Given the description of an element on the screen output the (x, y) to click on. 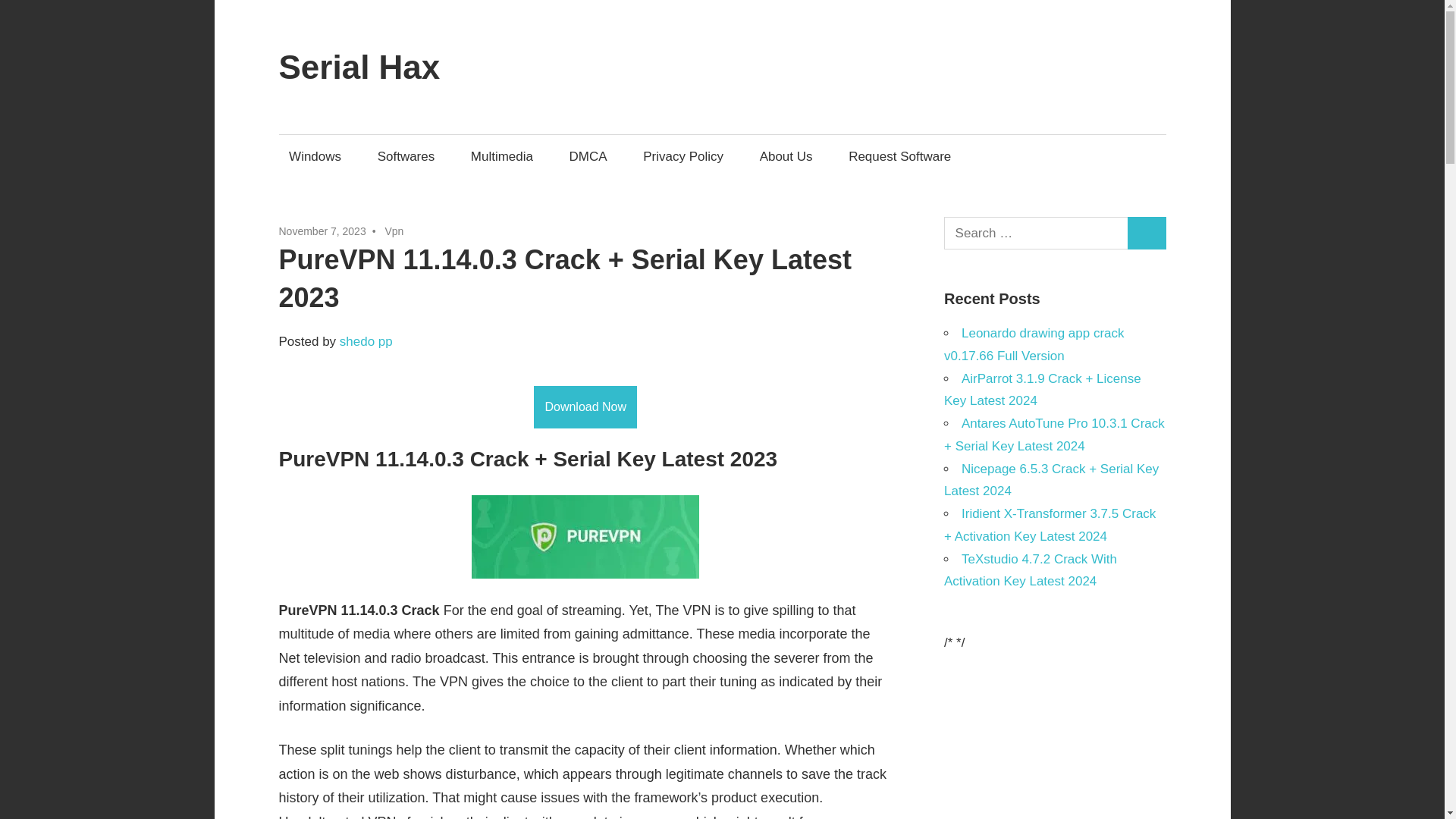
Request Software (899, 156)
Download Now (585, 406)
Serial Hax (360, 66)
View all posts by shedo pp (366, 341)
Softwares (405, 156)
About Us (785, 156)
Windows (315, 156)
TeXstudio 4.7.2 Crack With Activation Key Latest 2024 (1029, 570)
Search for: (1035, 233)
Vpn (393, 231)
Search (1146, 233)
shedo pp (366, 341)
Leonardo drawing app crack v0.17.66 Full Version (1033, 344)
Privacy Policy (683, 156)
DMCA (588, 156)
